Given the description of an element on the screen output the (x, y) to click on. 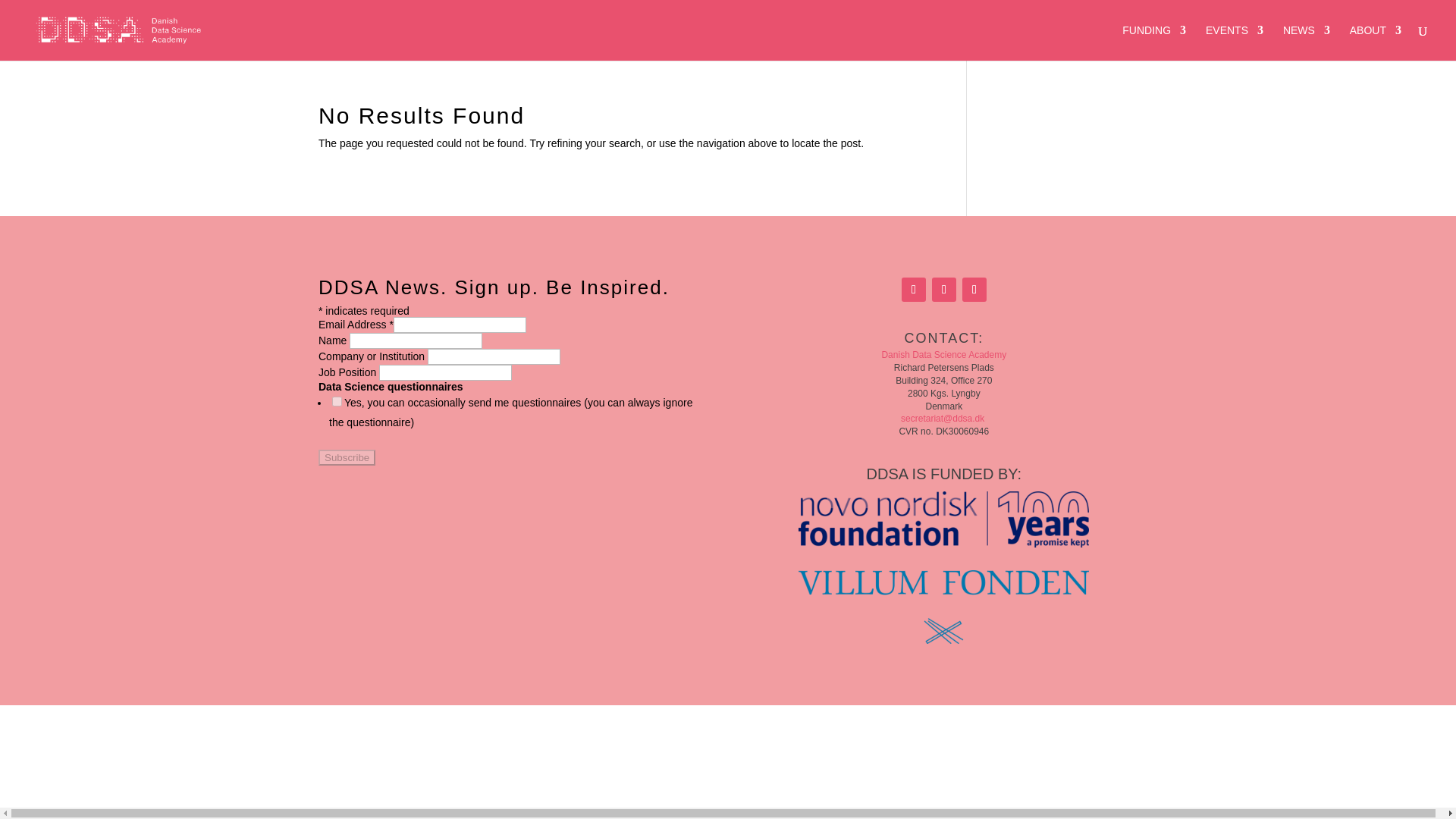
Follow on LinkedIn (913, 289)
Follow on Instagram (974, 289)
NEWS (1306, 42)
ABOUT (1374, 42)
EVENTS (1234, 42)
Follow on X (943, 289)
FUNDING (1154, 42)
Subscribe (346, 457)
Villum Fonden 9.9 (943, 606)
